Given the description of an element on the screen output the (x, y) to click on. 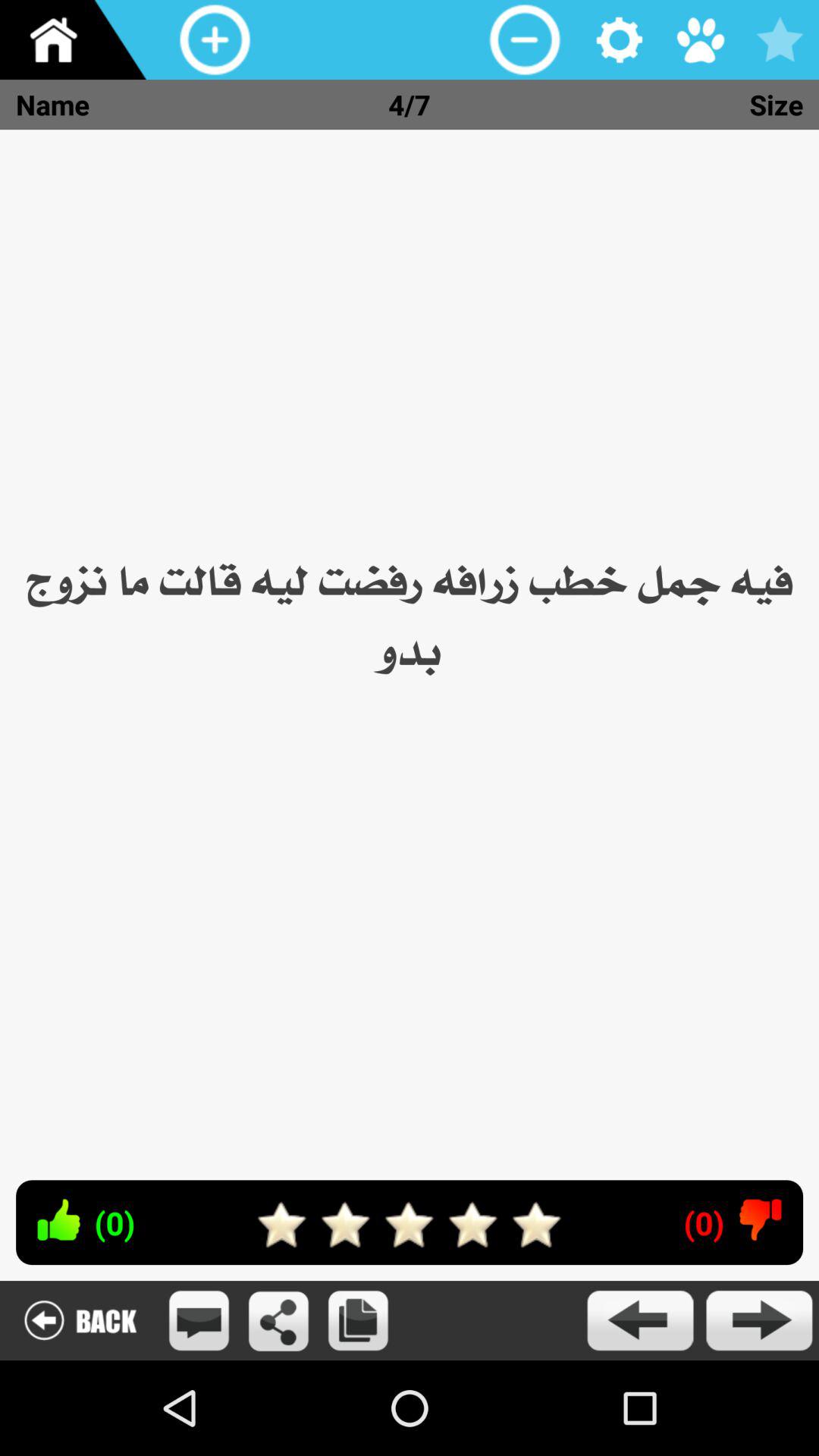
copy this phrase (358, 1320)
